Given the description of an element on the screen output the (x, y) to click on. 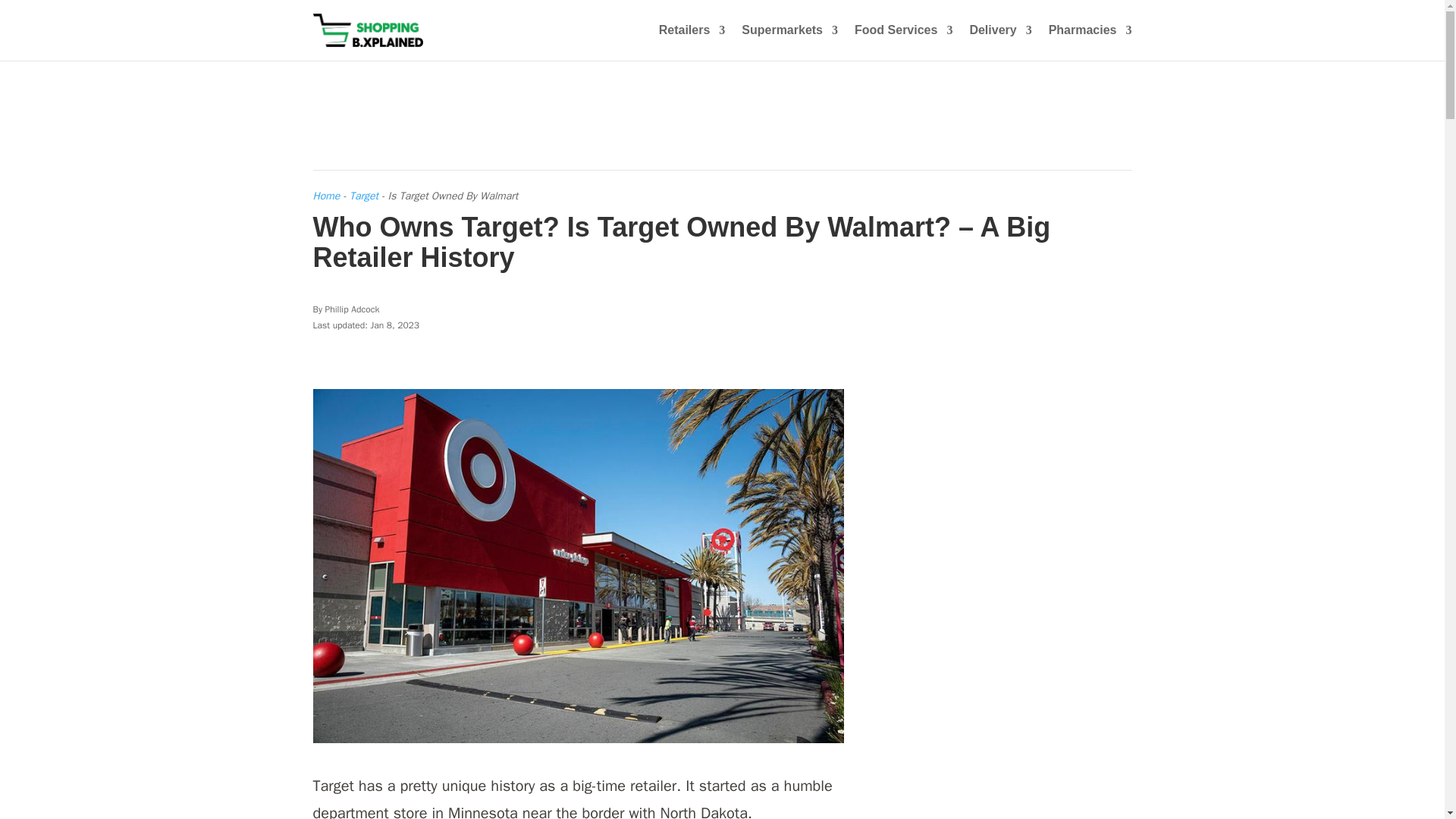
Supermarkets (789, 42)
Food Services (903, 42)
Retailers (692, 42)
Pharmacies (1090, 42)
Delivery (999, 42)
